Given the description of an element on the screen output the (x, y) to click on. 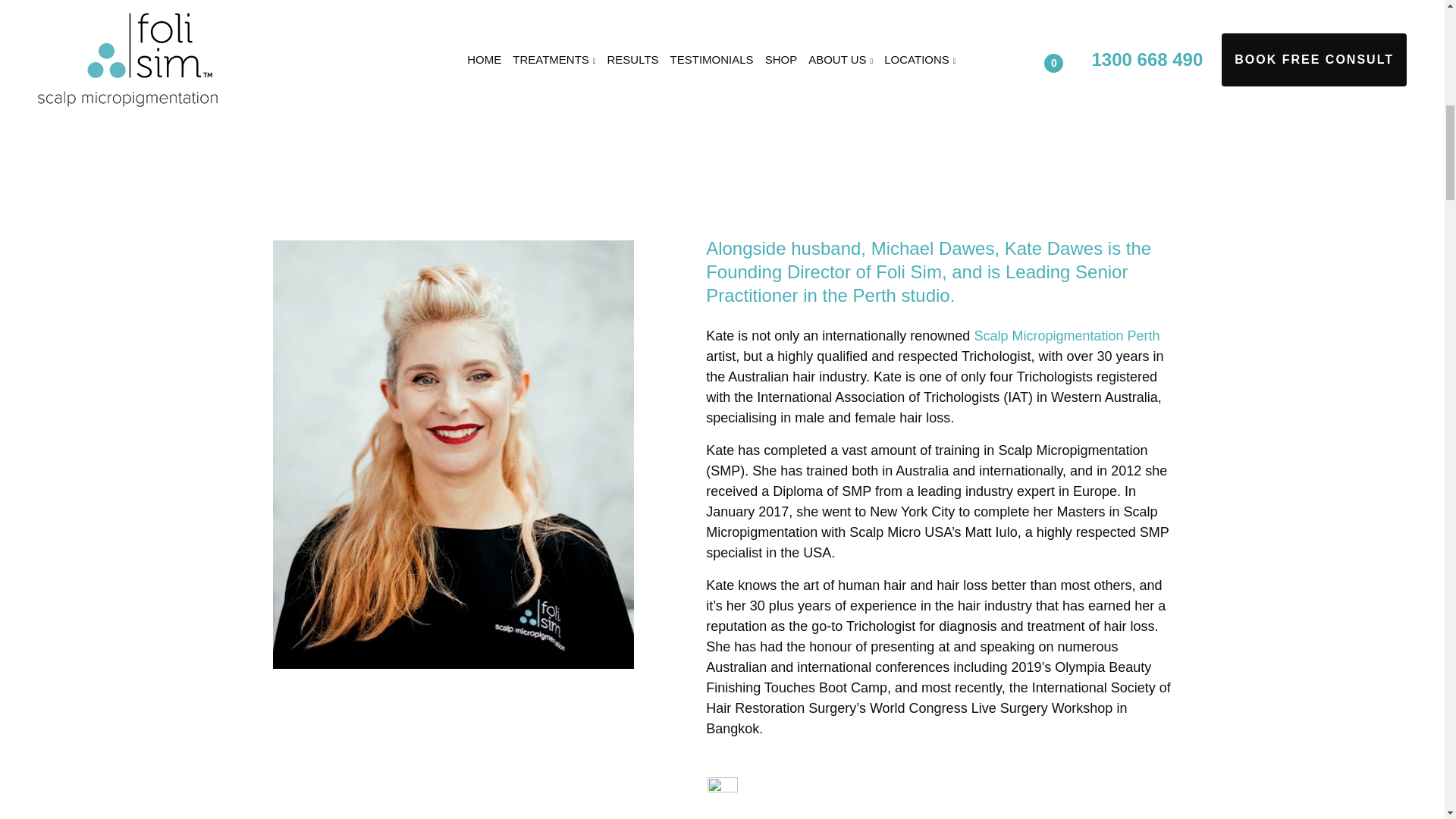
Michael Dawes (932, 248)
Scalp Micropigmentation Perth (1066, 335)
